Given the description of an element on the screen output the (x, y) to click on. 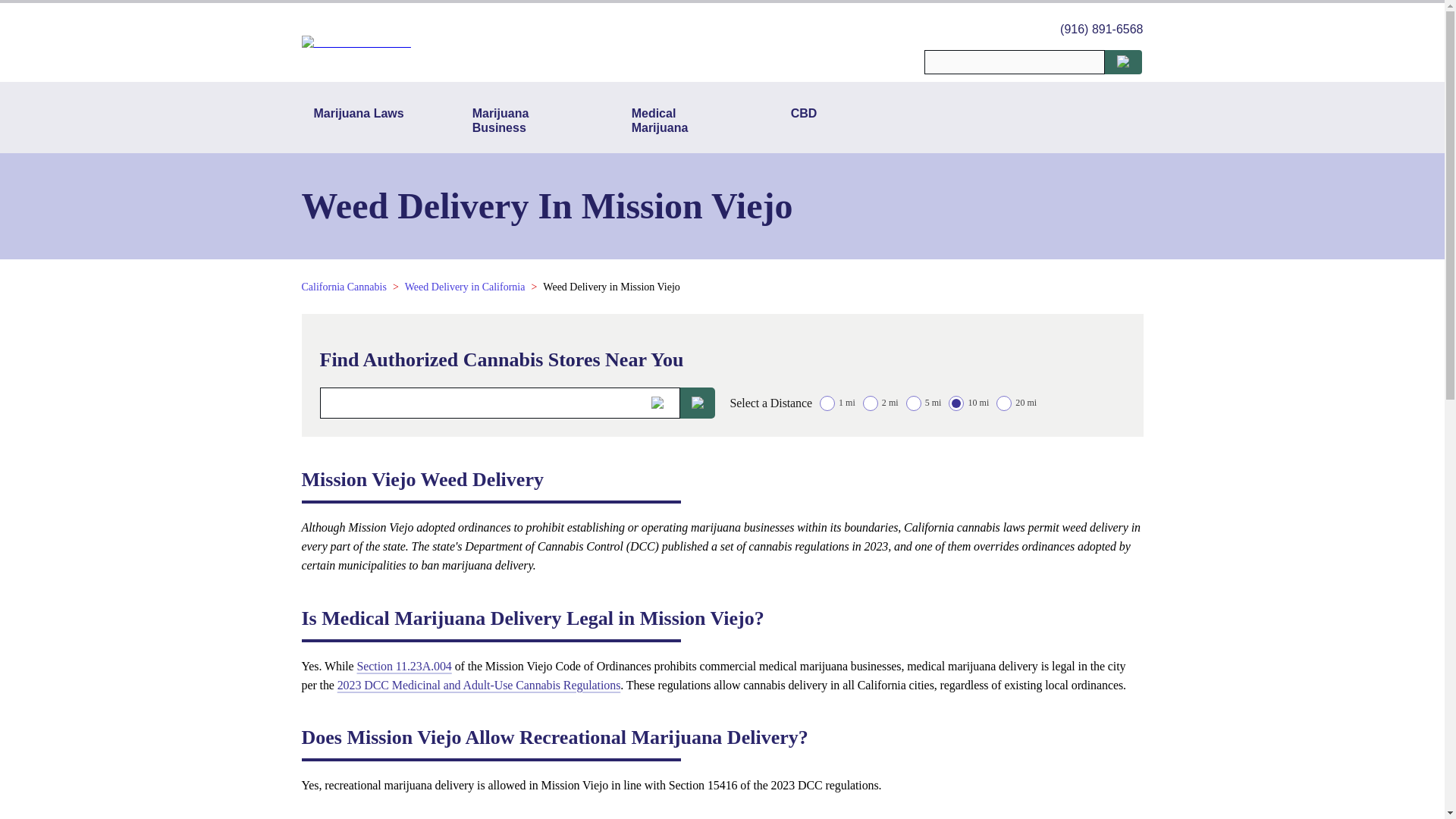
2023 DCC Medicinal and Adult-Use Cannabis Regulations (479, 684)
Weed Delivery in California (464, 286)
CBD (803, 119)
California Cannabis (344, 286)
Marijuana Business (517, 119)
Section 11.23A.004 (403, 666)
Medical Marijuana (677, 119)
Marijuana Laws (358, 119)
